Given the description of an element on the screen output the (x, y) to click on. 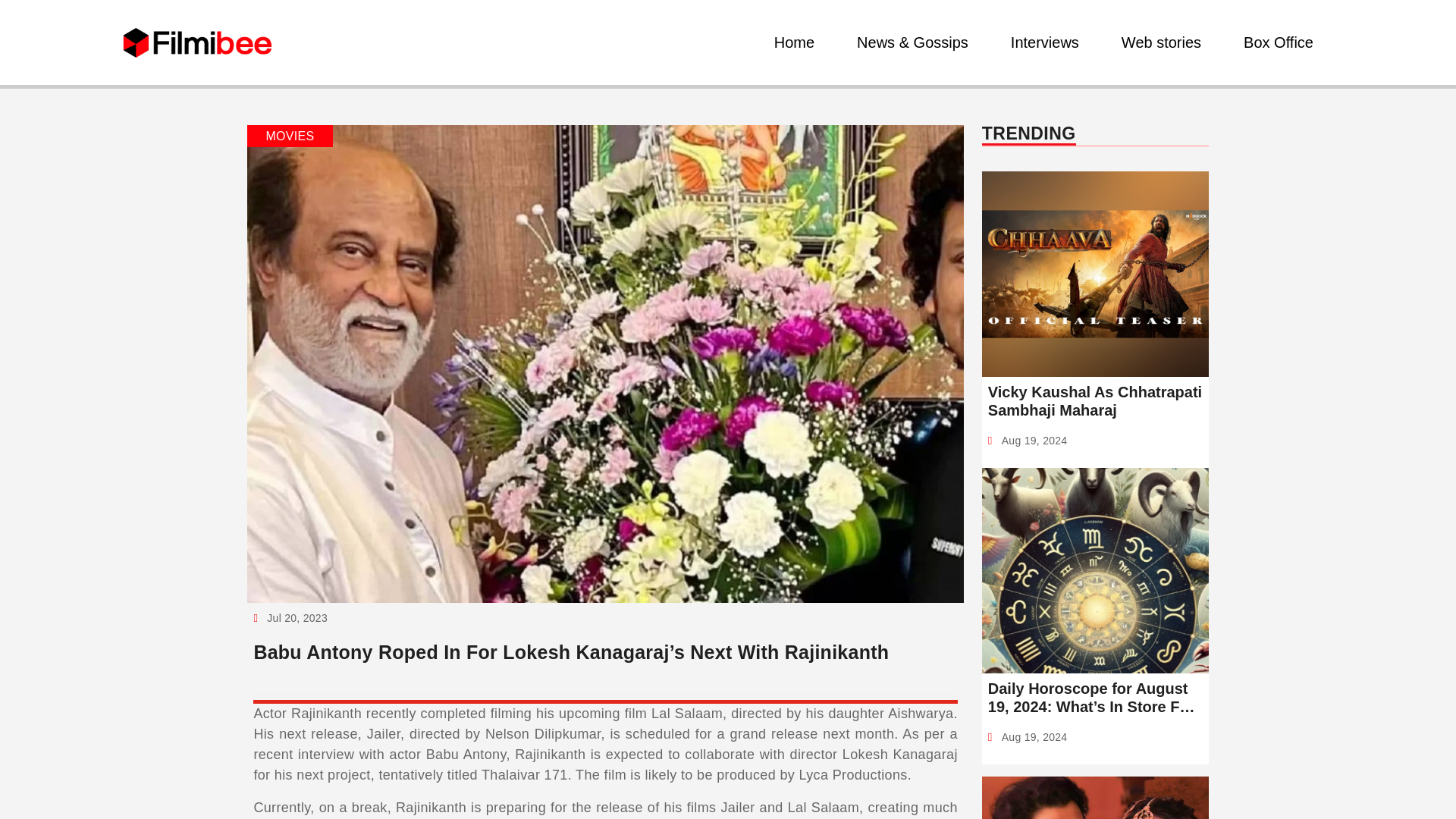
Home (794, 42)
Vicky Kaushal As Chhatrapati Sambhaji Maharaj (1095, 401)
Box Office (1278, 42)
Web stories (1161, 42)
Interviews (1044, 42)
